Given the description of an element on the screen output the (x, y) to click on. 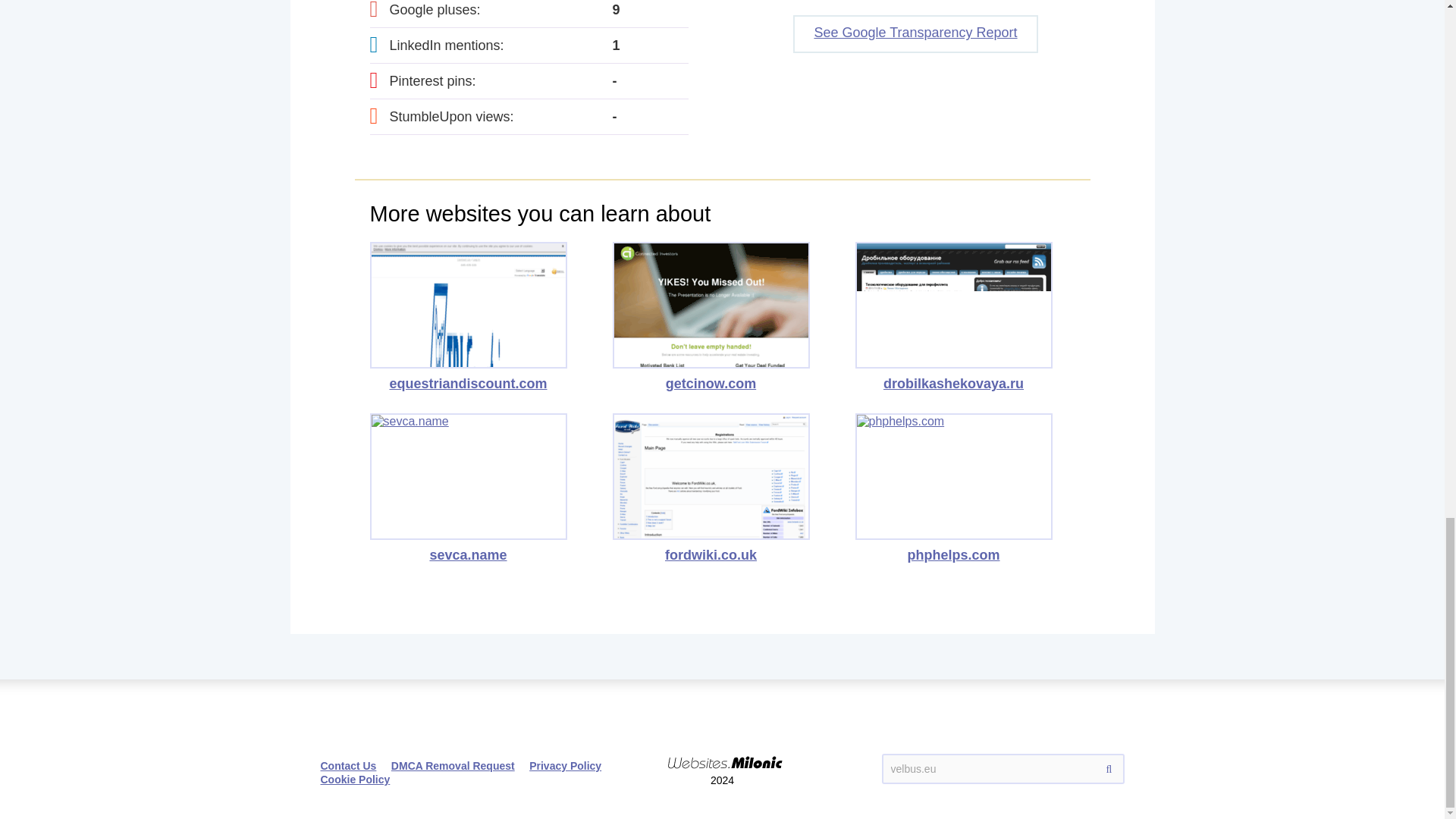
sevca.name (468, 488)
Contact Us (347, 766)
getcinow.com (710, 316)
DMCA Removal Request (453, 766)
fordwiki.co.uk (710, 488)
velbus.eu (1002, 768)
equestriandiscount.com (468, 316)
phphelps.com (954, 488)
2024 (721, 750)
drobilkashekovaya.ru (954, 316)
See Google Transparency Report (914, 34)
Privacy Policy (565, 766)
Cookie Policy (355, 779)
